Given the description of an element on the screen output the (x, y) to click on. 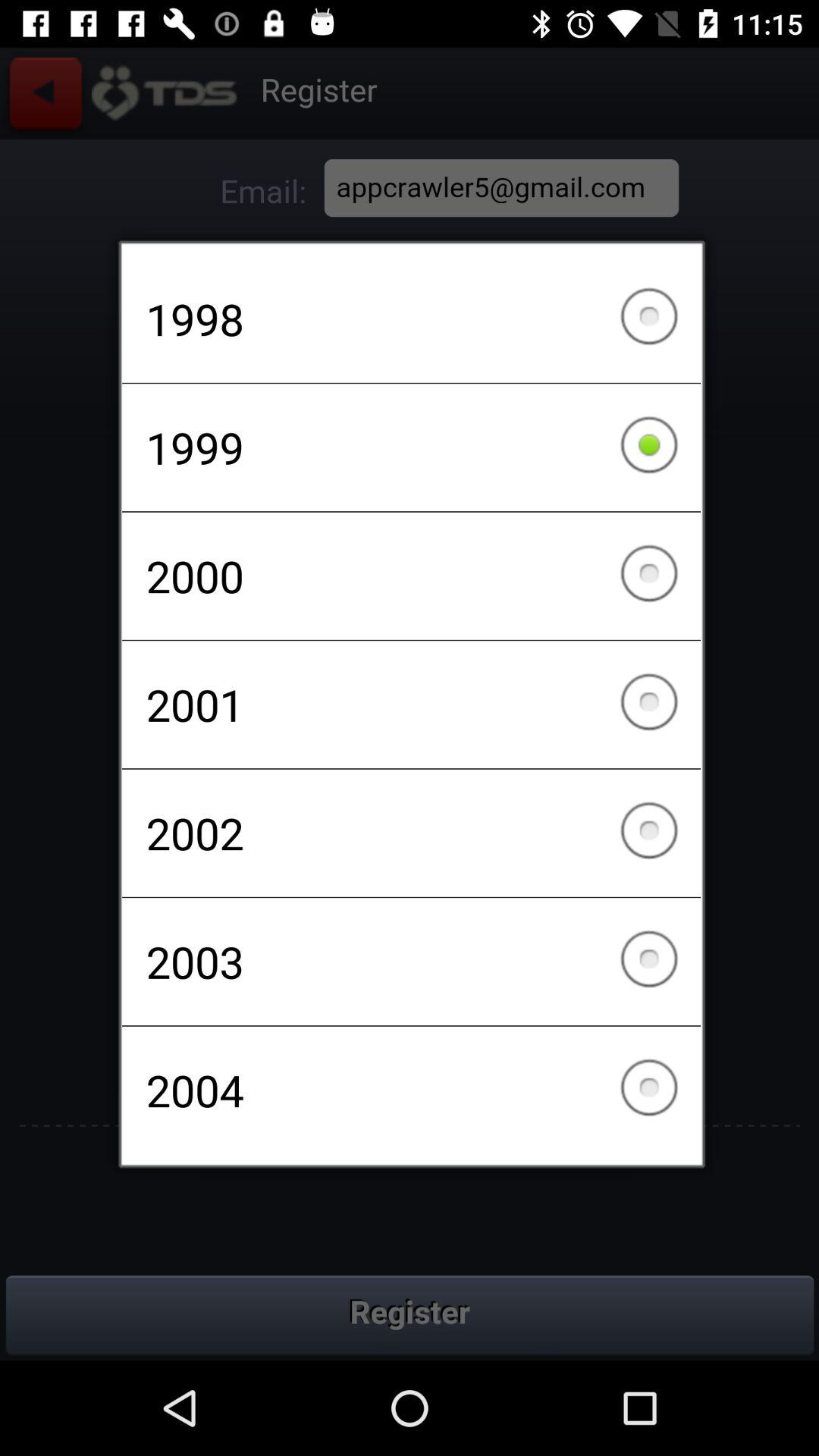
open the 2001 checkbox (411, 704)
